Given the description of an element on the screen output the (x, y) to click on. 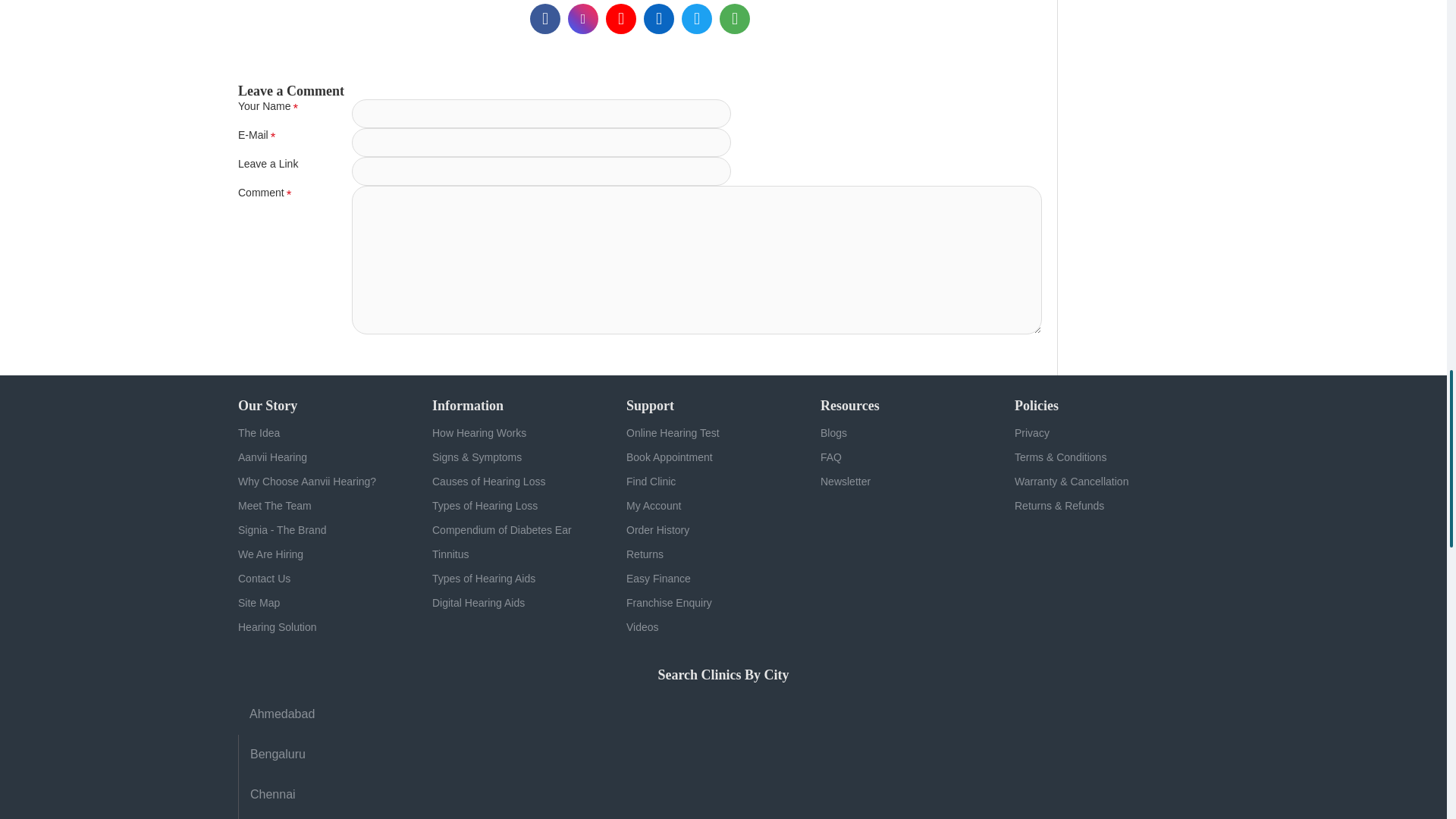
Whatspp (734, 19)
Twitter (696, 19)
Youtube (620, 19)
Instagram (582, 19)
Facebook (544, 19)
LinkedIn (658, 19)
